Given the description of an element on the screen output the (x, y) to click on. 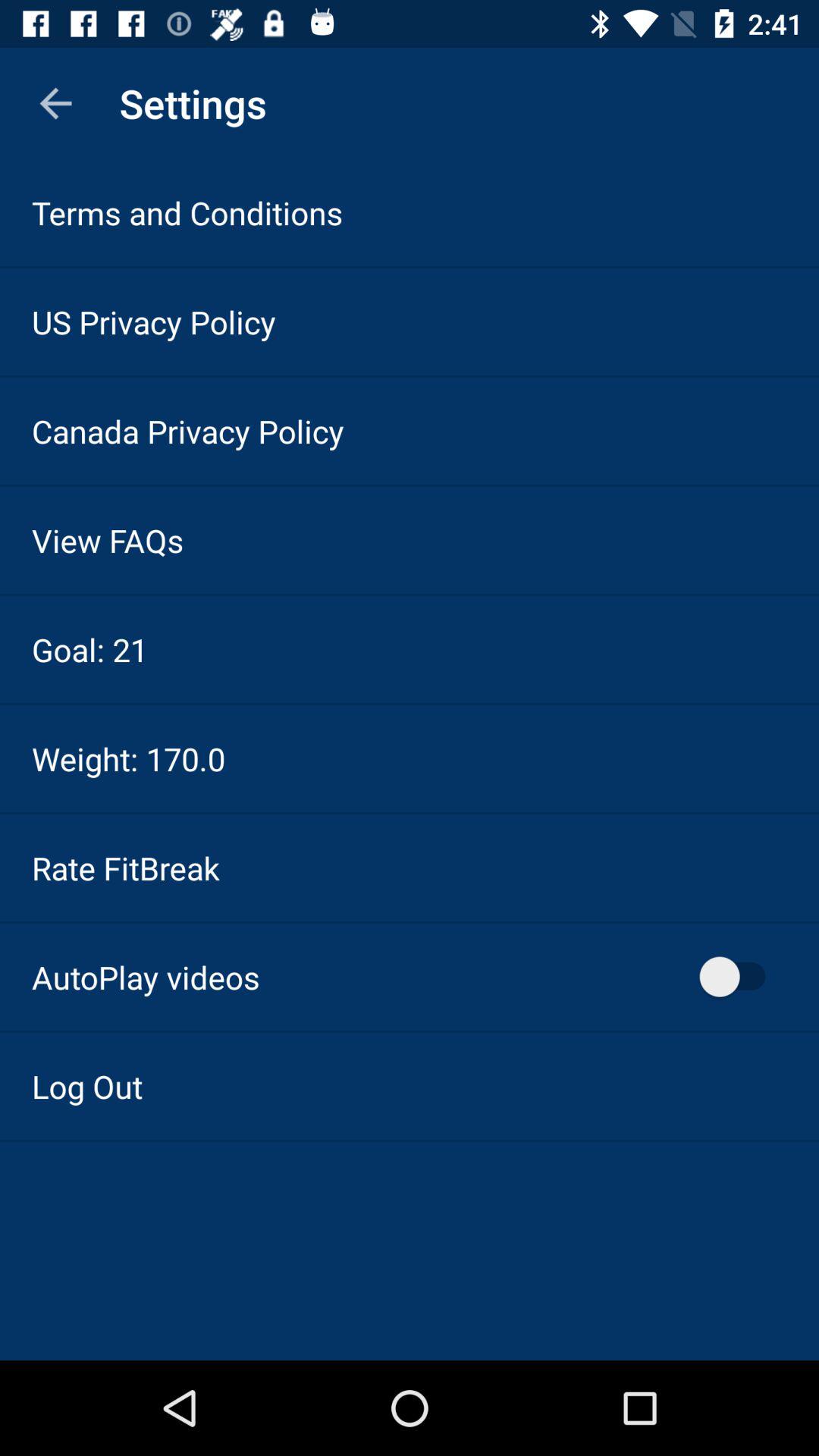
press the weight: 170.0 icon (128, 758)
